Given the description of an element on the screen output the (x, y) to click on. 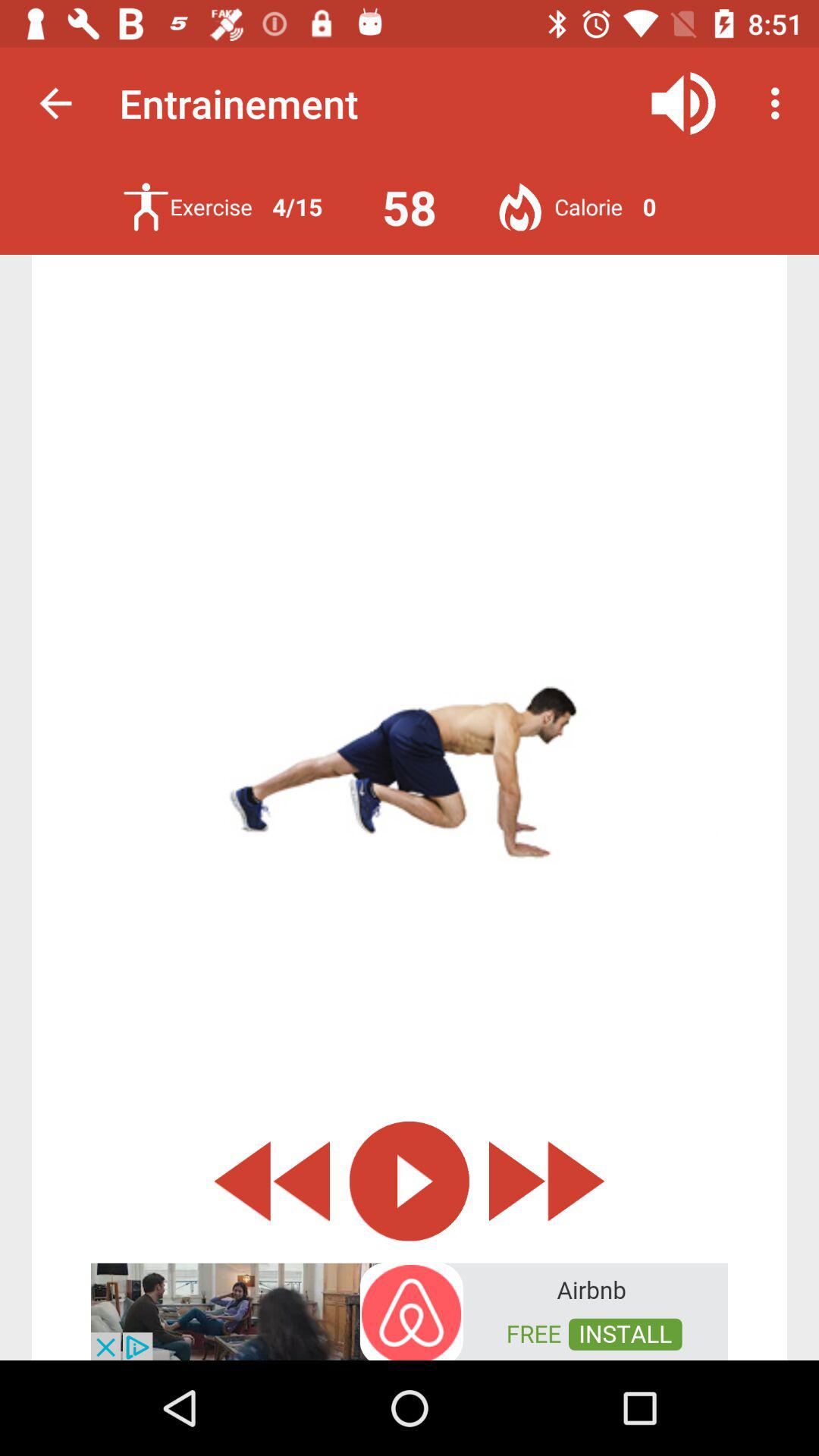
do exercise (146, 206)
